Given the description of an element on the screen output the (x, y) to click on. 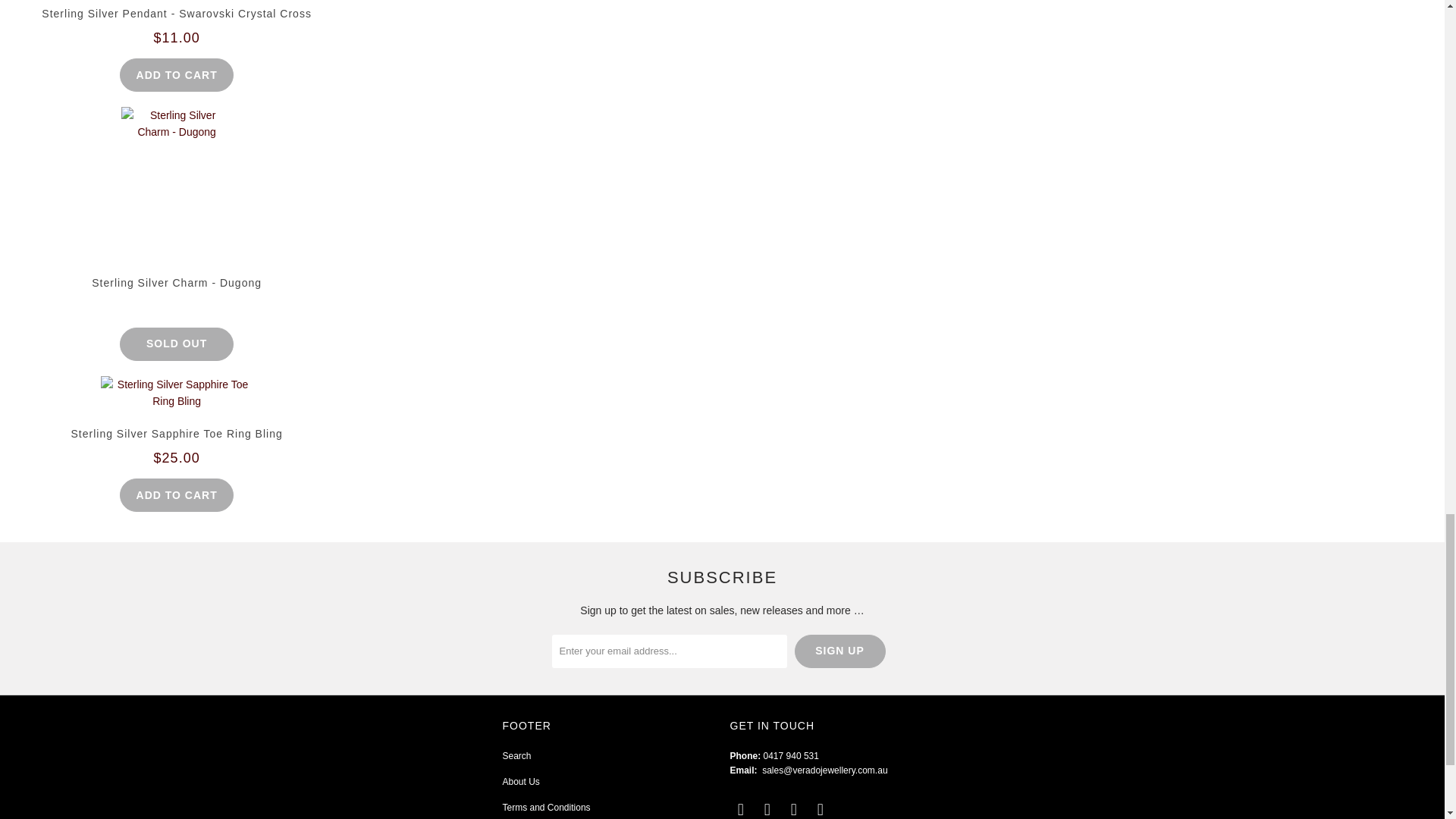
Verado Jewellery Australia on Facebook (767, 809)
Verado Jewellery Australia on Pinterest (794, 809)
Verado Jewellery Australia on Twitter (740, 809)
Sign Up (839, 651)
